Given the description of an element on the screen output the (x, y) to click on. 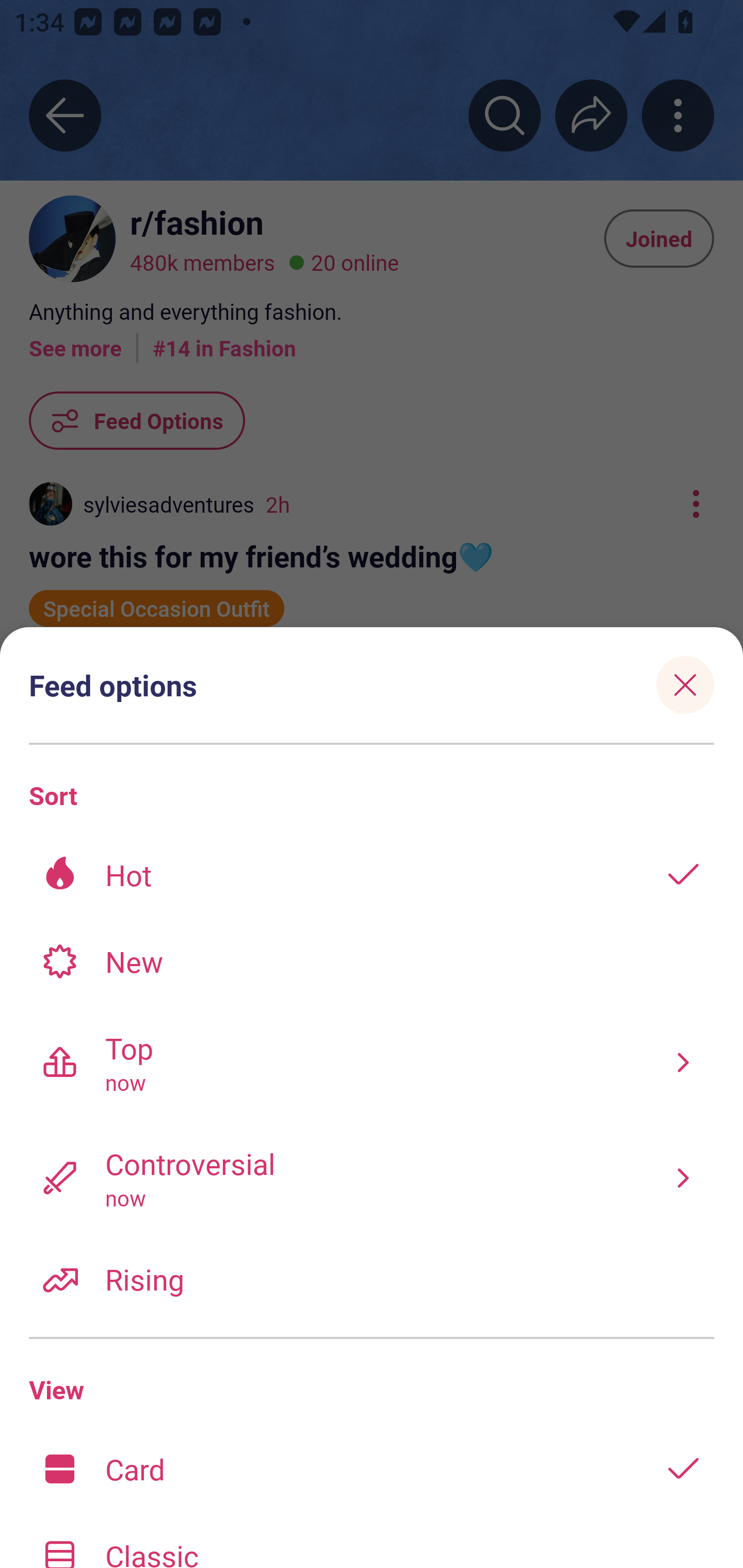
Close sheet (684, 684)
Hot (371, 874)
New (371, 961)
Top now (371, 1062)
Controversial now (371, 1177)
Rising (371, 1278)
Card (371, 1468)
Classic (371, 1539)
